Given the description of an element on the screen output the (x, y) to click on. 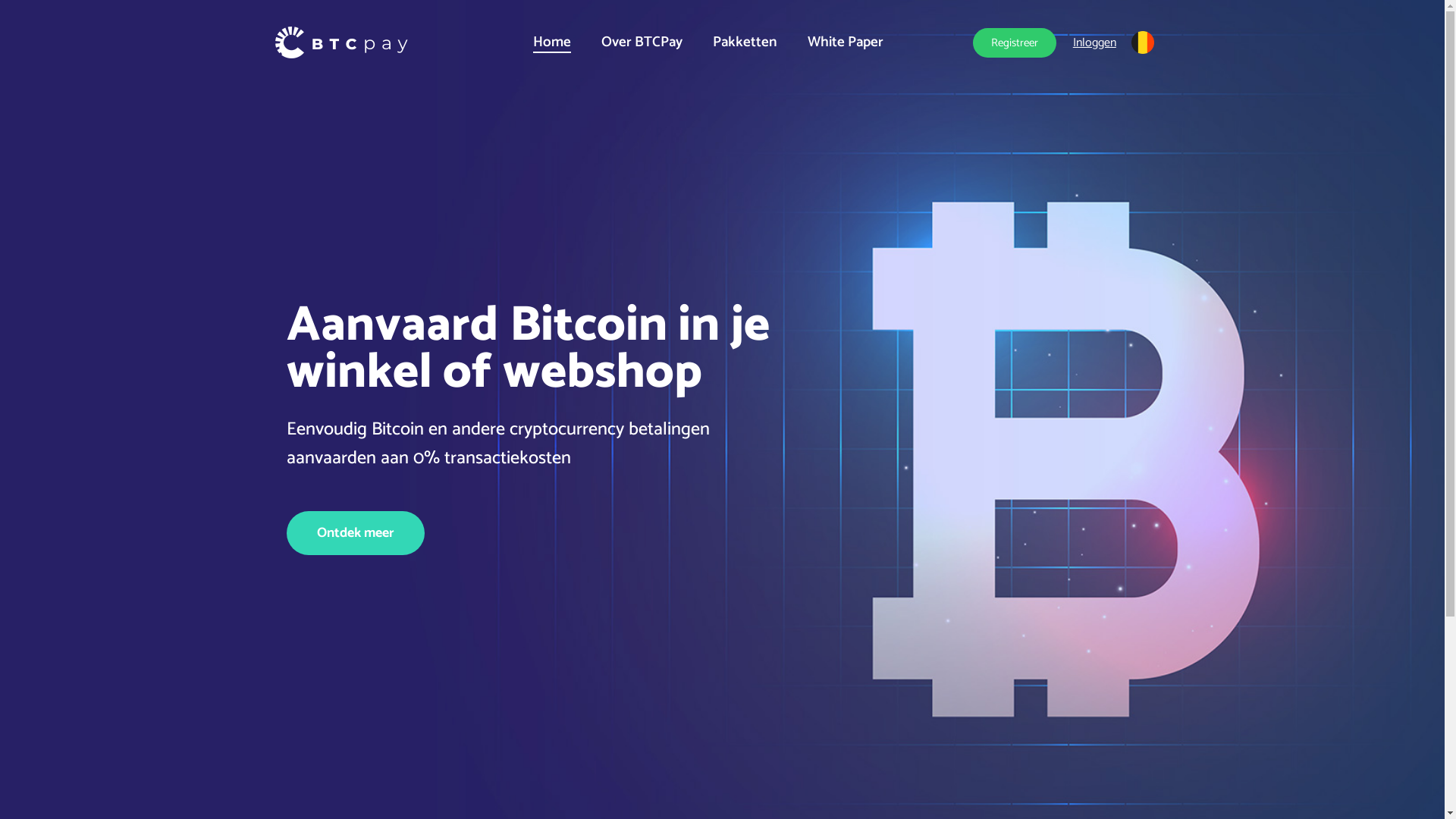
White Paper Element type: text (845, 42)
Belgie Element type: hover (1142, 42)
btcpay_logo Element type: hover (340, 42)
Ontdek meer Element type: text (355, 533)
Home Element type: text (552, 42)
Registreer Element type: text (1014, 41)
Inloggen Element type: text (1094, 42)
Over BTCPay Element type: text (641, 42)
Pakketten Element type: text (744, 42)
